Given the description of an element on the screen output the (x, y) to click on. 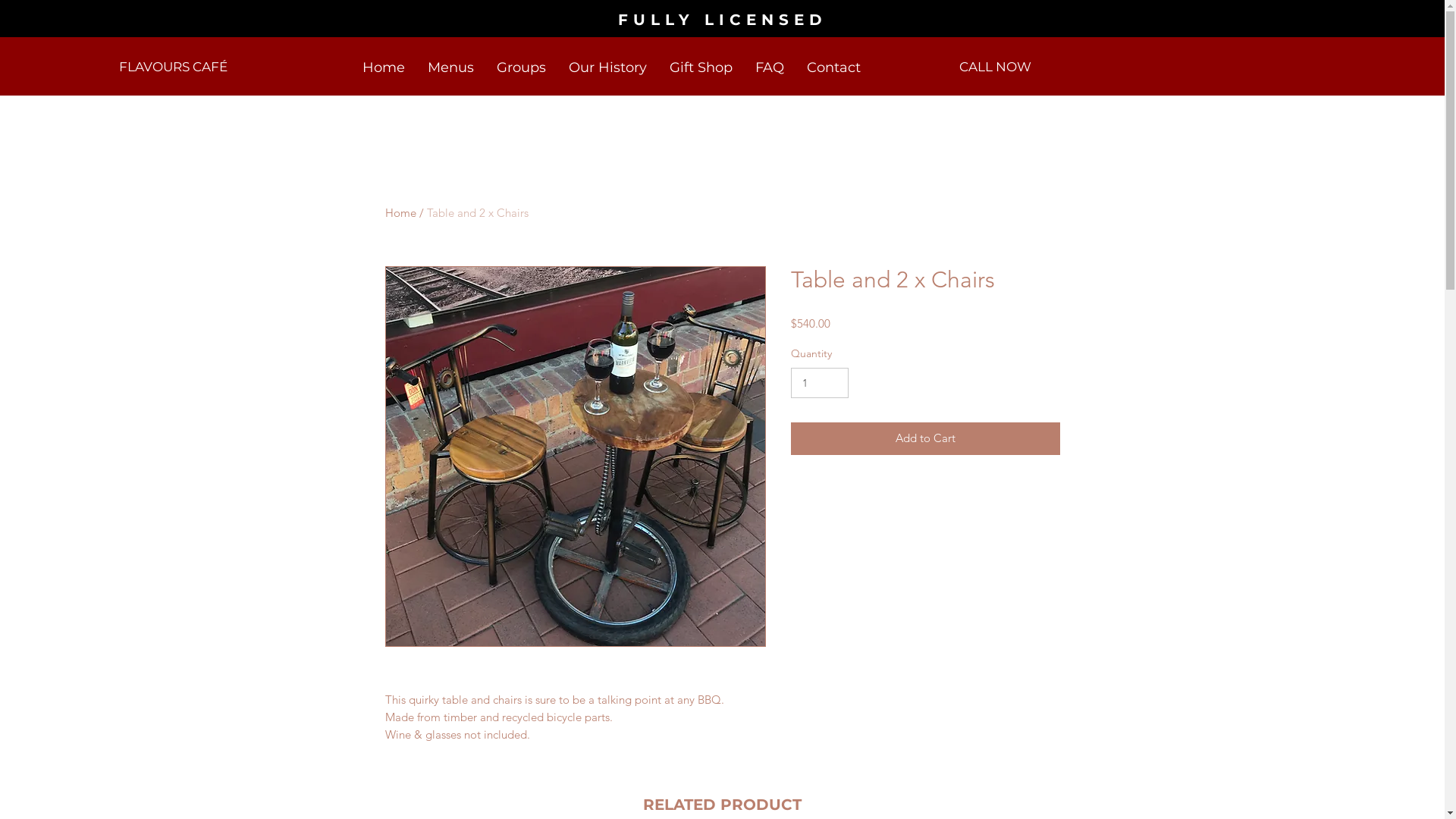
CALL NOW Element type: text (994, 67)
Groups Element type: text (521, 67)
Menus Element type: text (449, 67)
Add to Cart Element type: text (924, 438)
Our History Element type: text (606, 67)
Contact Element type: text (832, 67)
FAQ Element type: text (768, 67)
Gift Shop Element type: text (700, 67)
Home Element type: text (400, 212)
Home Element type: text (382, 67)
